Given the description of an element on the screen output the (x, y) to click on. 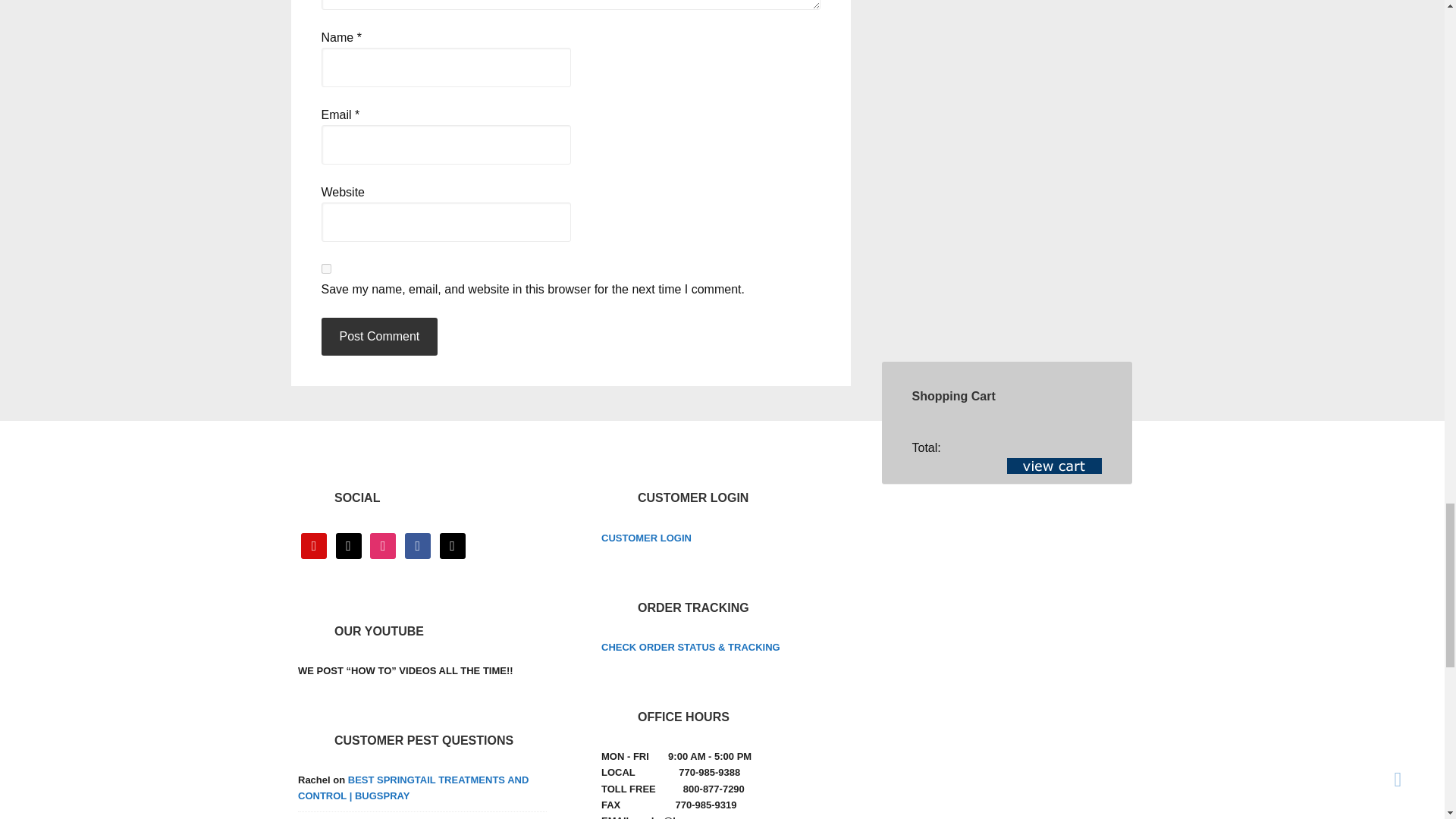
Default Label (452, 544)
yes (326, 268)
Default Label (348, 544)
Post Comment (379, 336)
Friend me on Facebook (417, 544)
Instagram (382, 544)
